Given the description of an element on the screen output the (x, y) to click on. 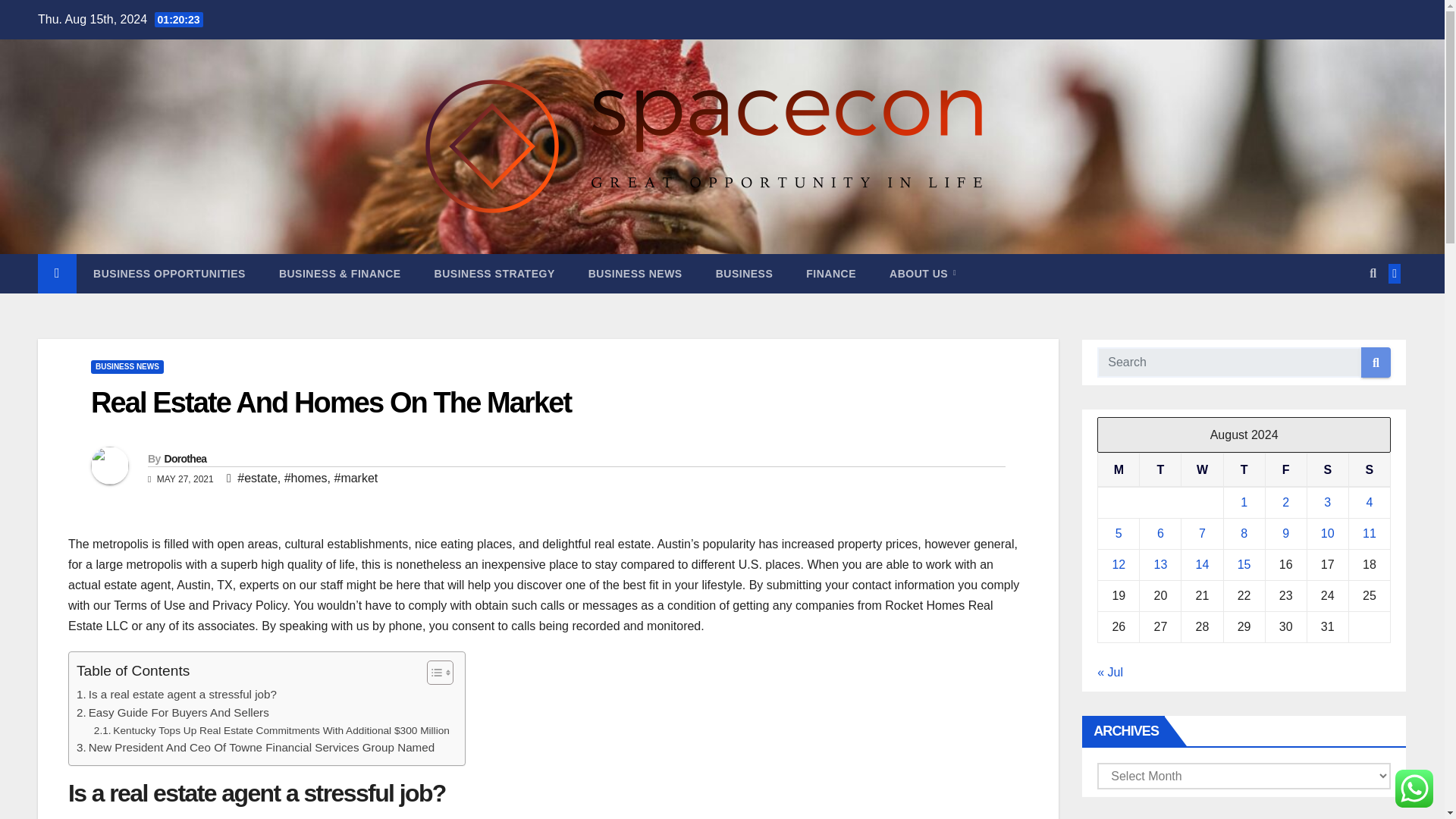
Business (744, 273)
BUSINESS STRATEGY (494, 273)
ABOUT US (922, 273)
Easy Guide For Buyers And Sellers (173, 712)
Finance (830, 273)
Business Strategy (494, 273)
BUSINESS NEWS (126, 366)
About Us (922, 273)
Is a real estate agent a stressful job? (176, 694)
